Given the description of an element on the screen output the (x, y) to click on. 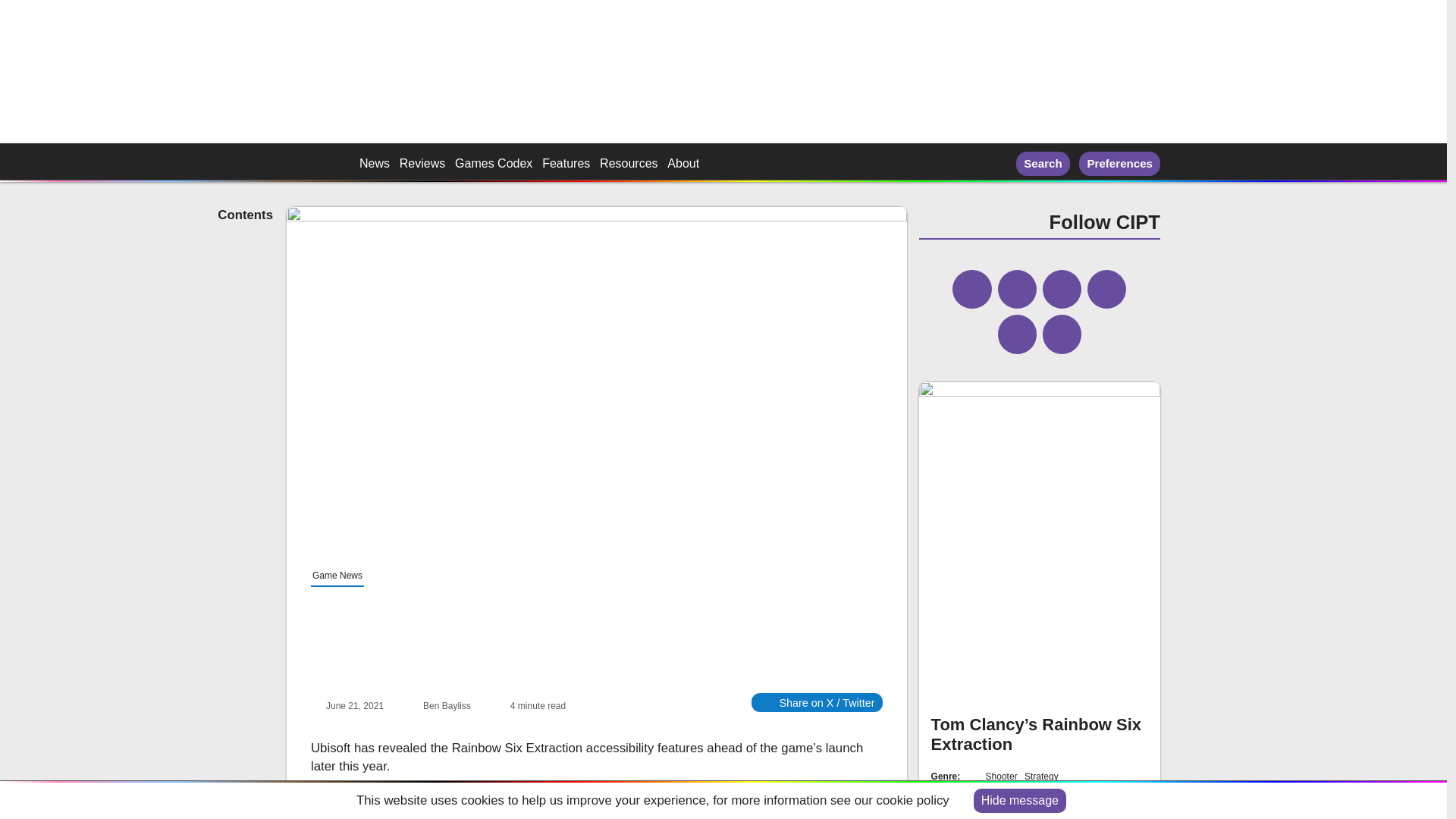
Ben Bayliss (446, 706)
detailed by Ubisoft (782, 795)
Features (565, 163)
Reviews (421, 163)
Games Codex (493, 163)
Game News (337, 576)
News (374, 163)
Resources (628, 163)
About (682, 163)
